Given the description of an element on the screen output the (x, y) to click on. 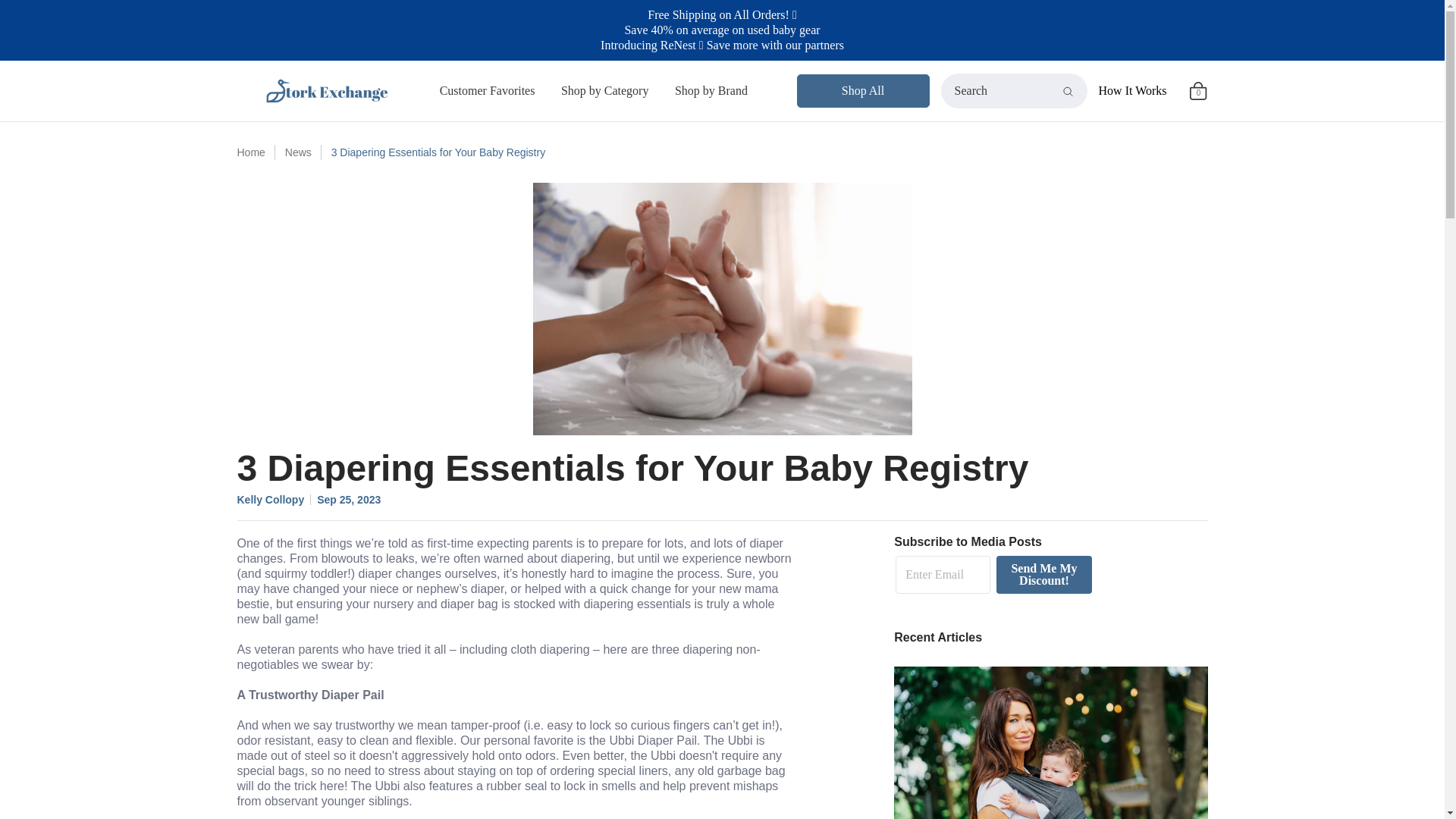
Shop by Category (605, 90)
Customer Favorites (487, 90)
Customer Favorites (487, 90)
Stork Exchange (331, 90)
Shop by Category (605, 90)
